Given the description of an element on the screen output the (x, y) to click on. 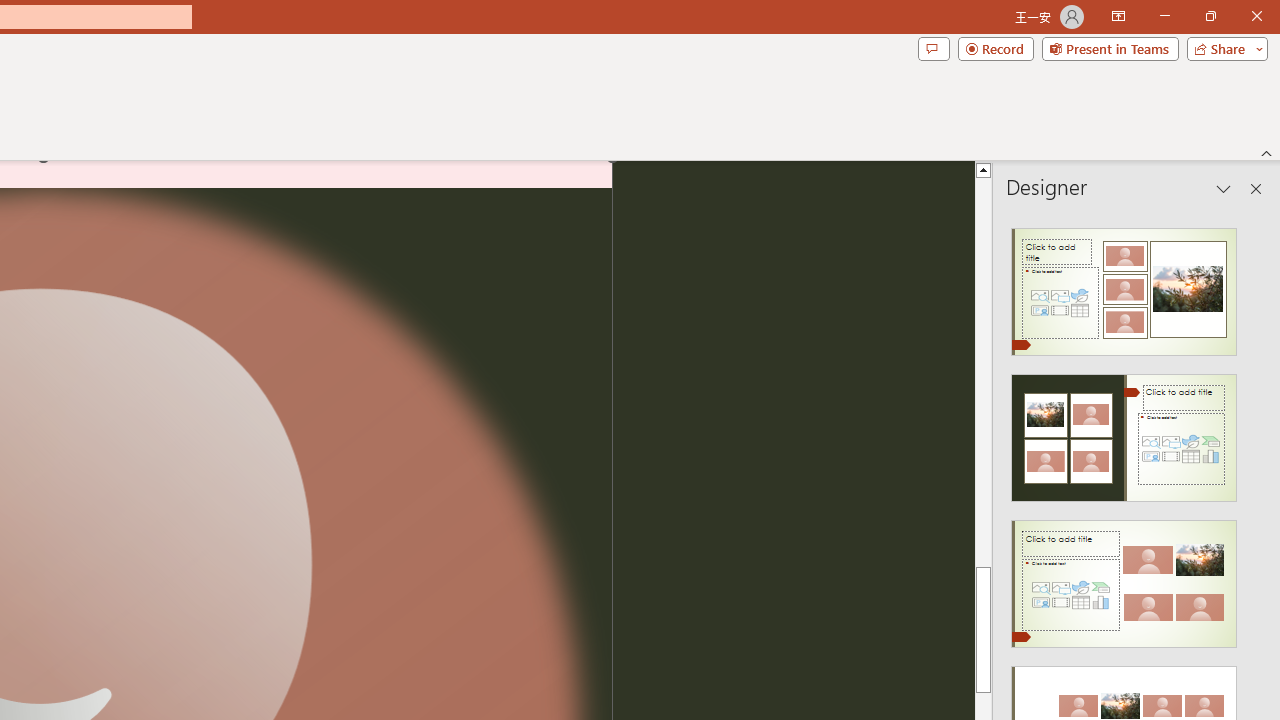
Restore Down (1210, 16)
Minimize (1164, 16)
